Given the description of an element on the screen output the (x, y) to click on. 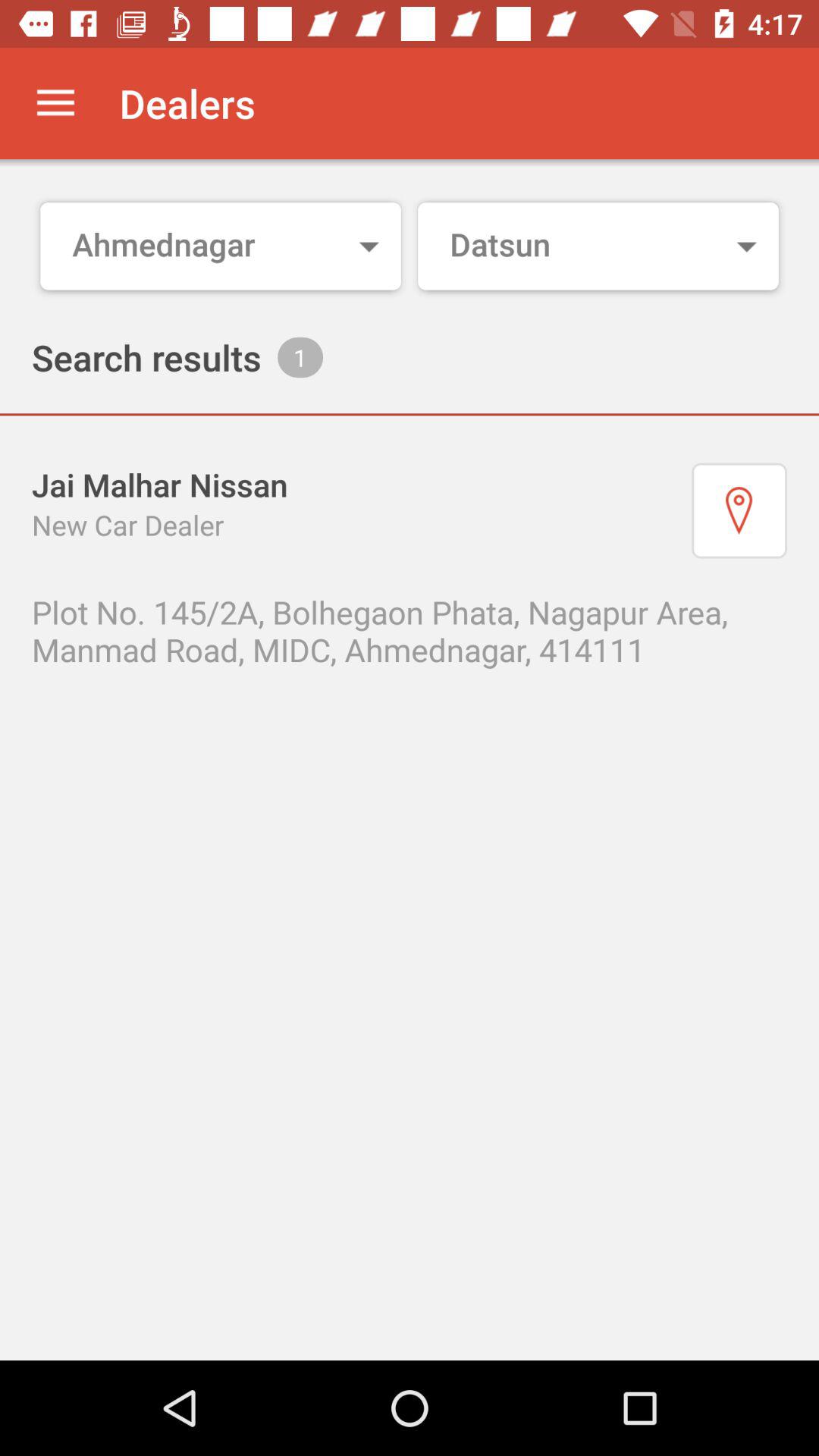
open the item on the right (739, 510)
